Given the description of an element on the screen output the (x, y) to click on. 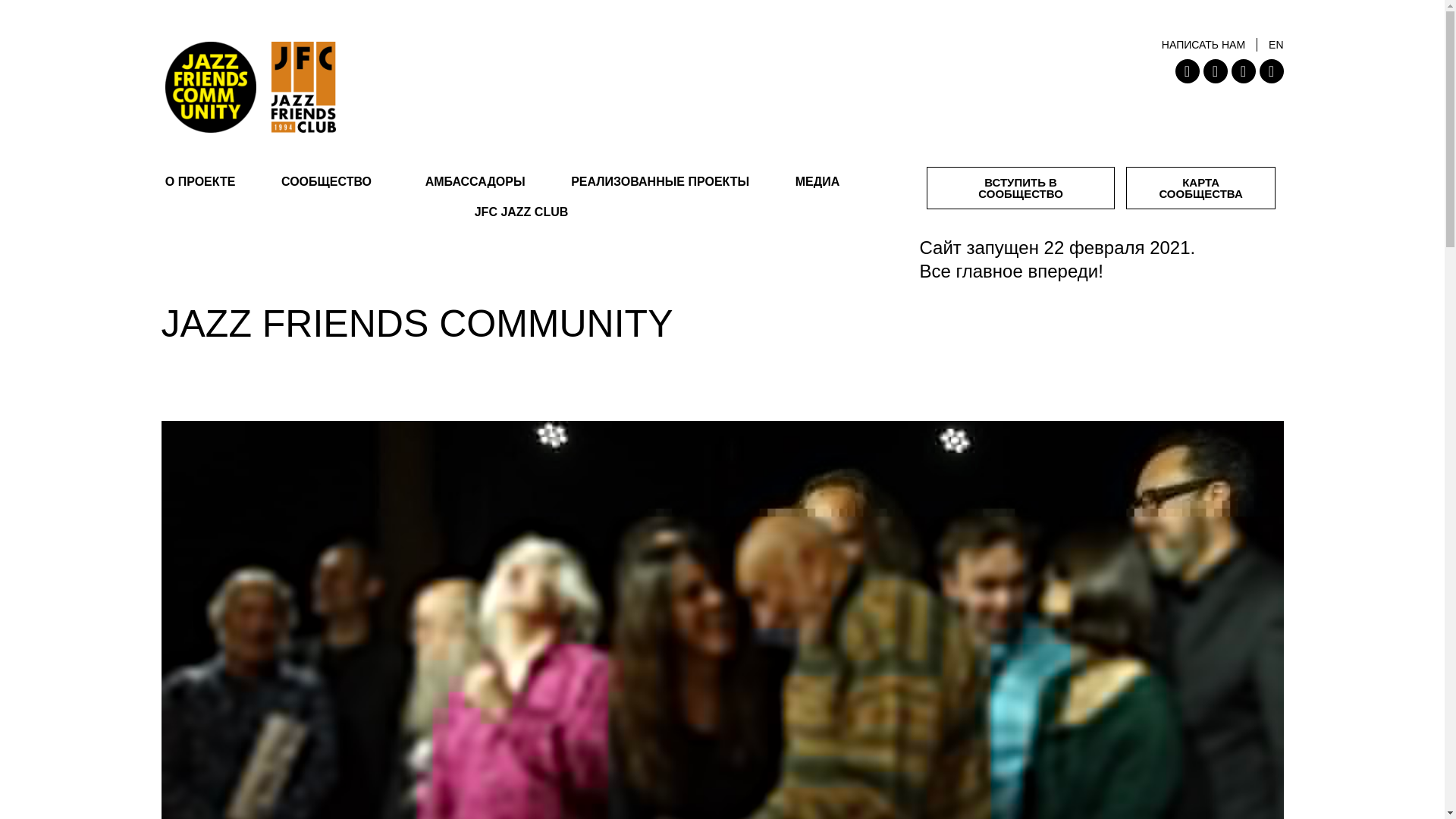
EN (1275, 44)
JFC JAZZ CLUB (520, 212)
